Given the description of an element on the screen output the (x, y) to click on. 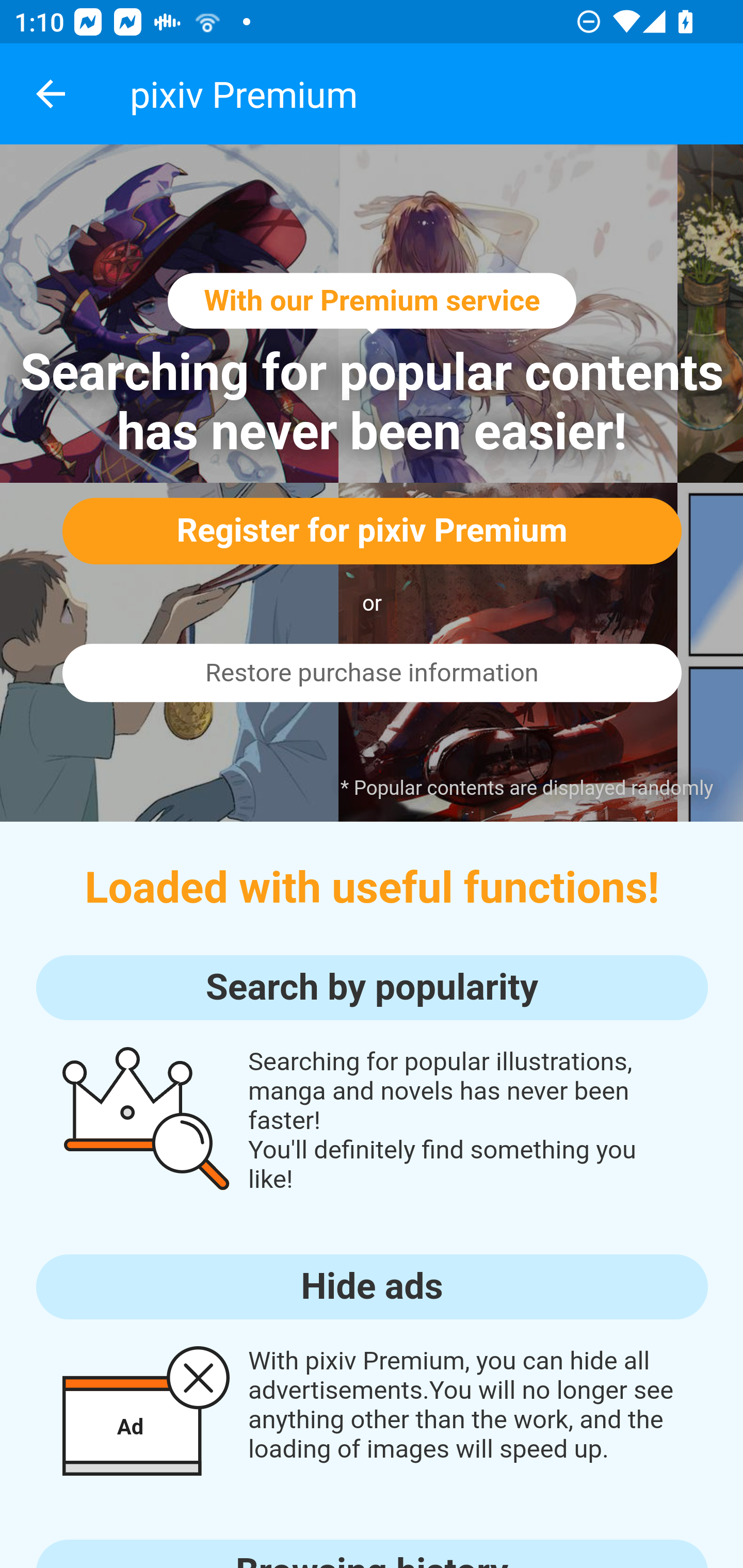
Navigate up (50, 93)
Register for pixiv Premium (371, 529)
Restore purchase information (371, 672)
